Given the description of an element on the screen output the (x, y) to click on. 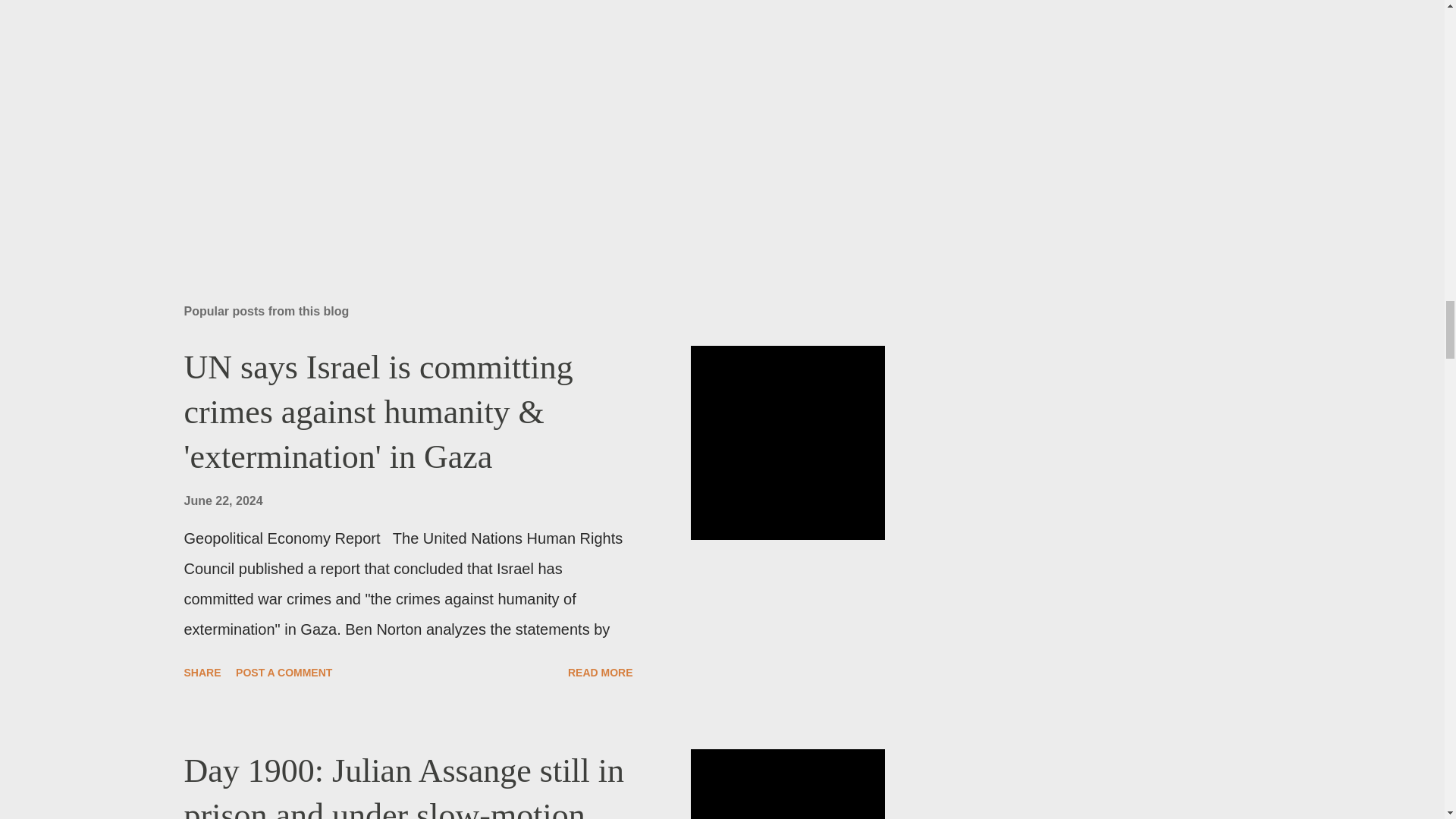
permanent link (222, 500)
SHARE (202, 672)
POST A COMMENT (283, 672)
READ MORE (600, 672)
June 22, 2024 (222, 500)
